Given the description of an element on the screen output the (x, y) to click on. 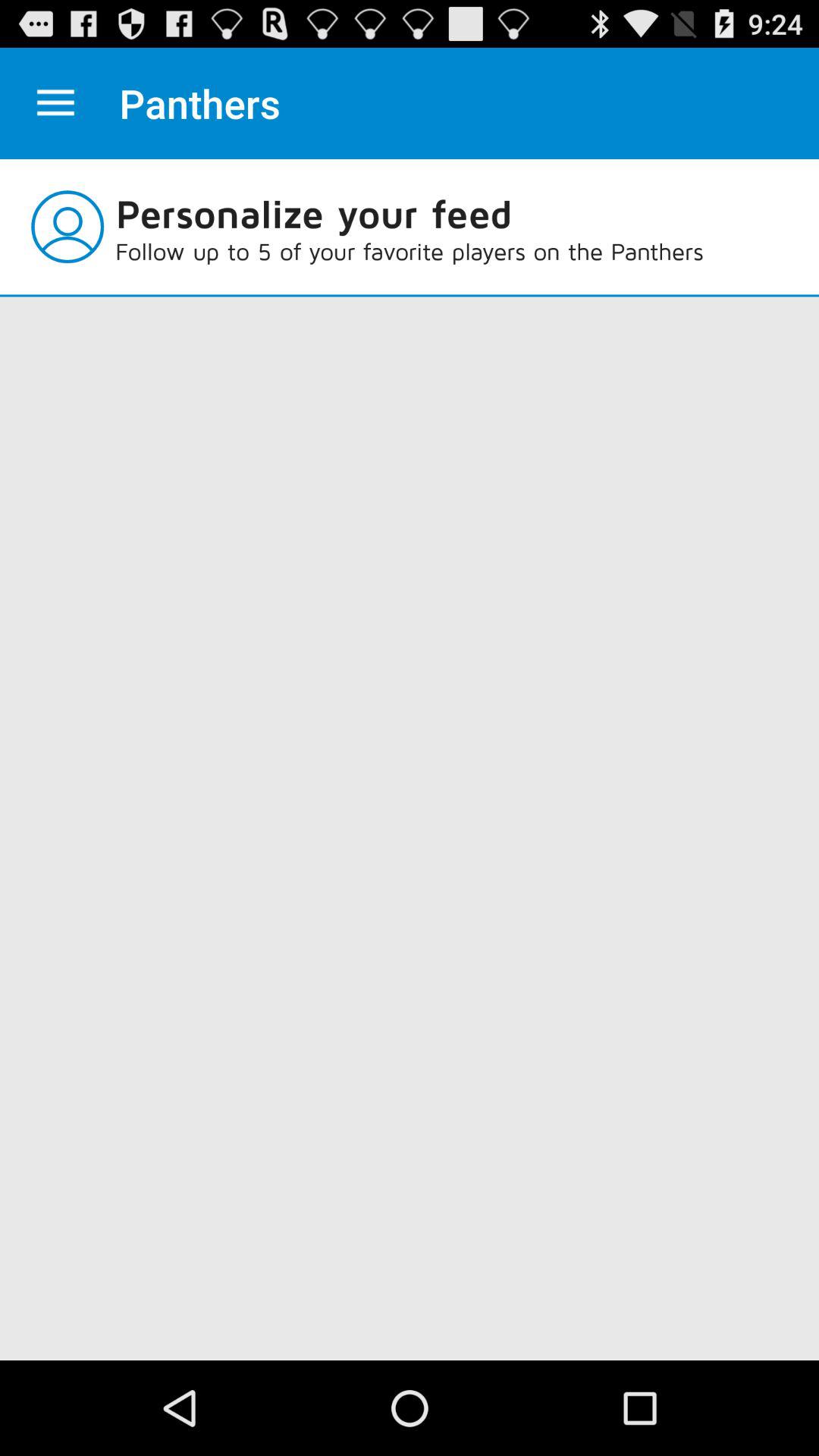
toggle settings option (55, 103)
